Given the description of an element on the screen output the (x, y) to click on. 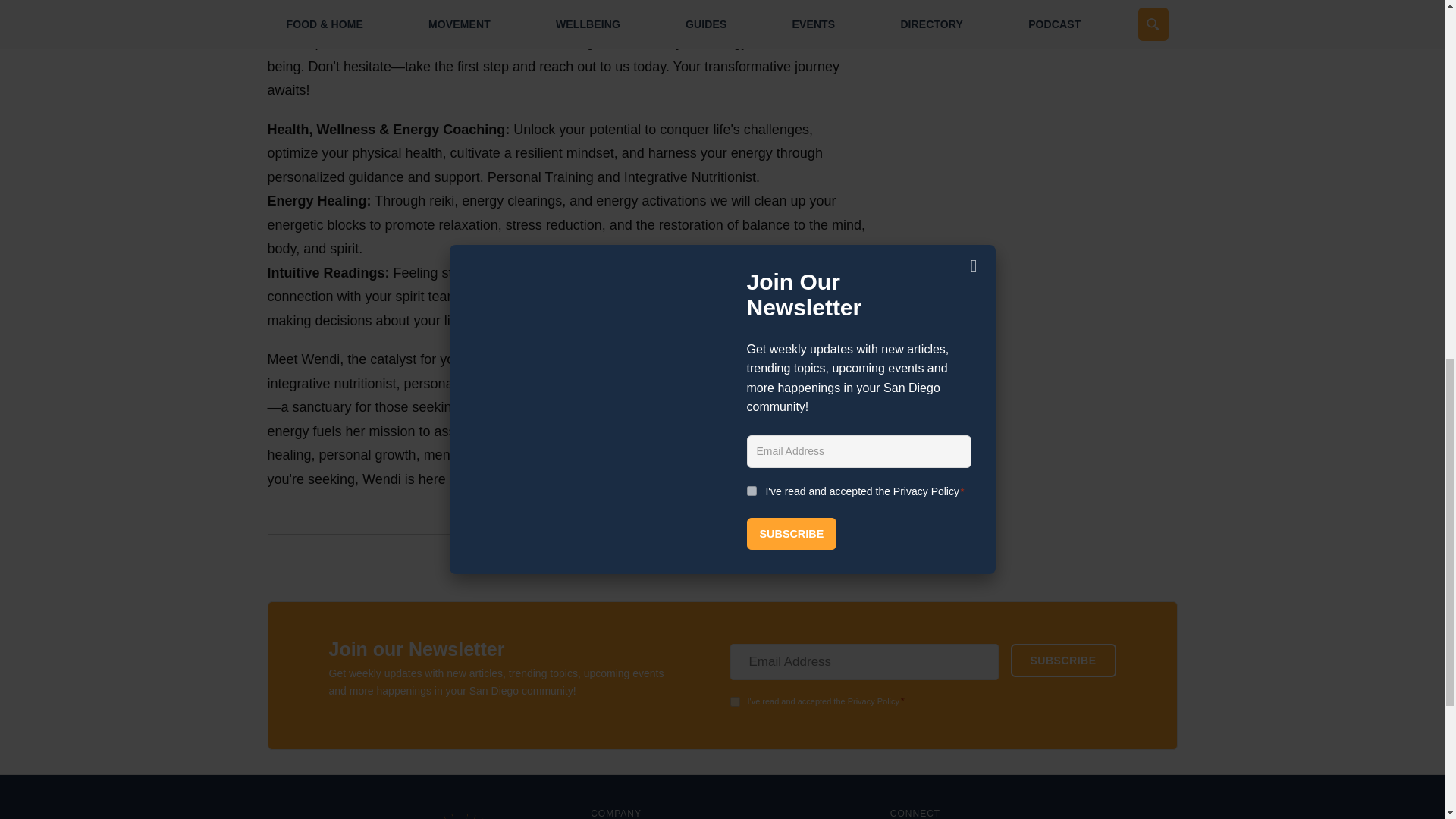
1 (734, 701)
